Given the description of an element on the screen output the (x, y) to click on. 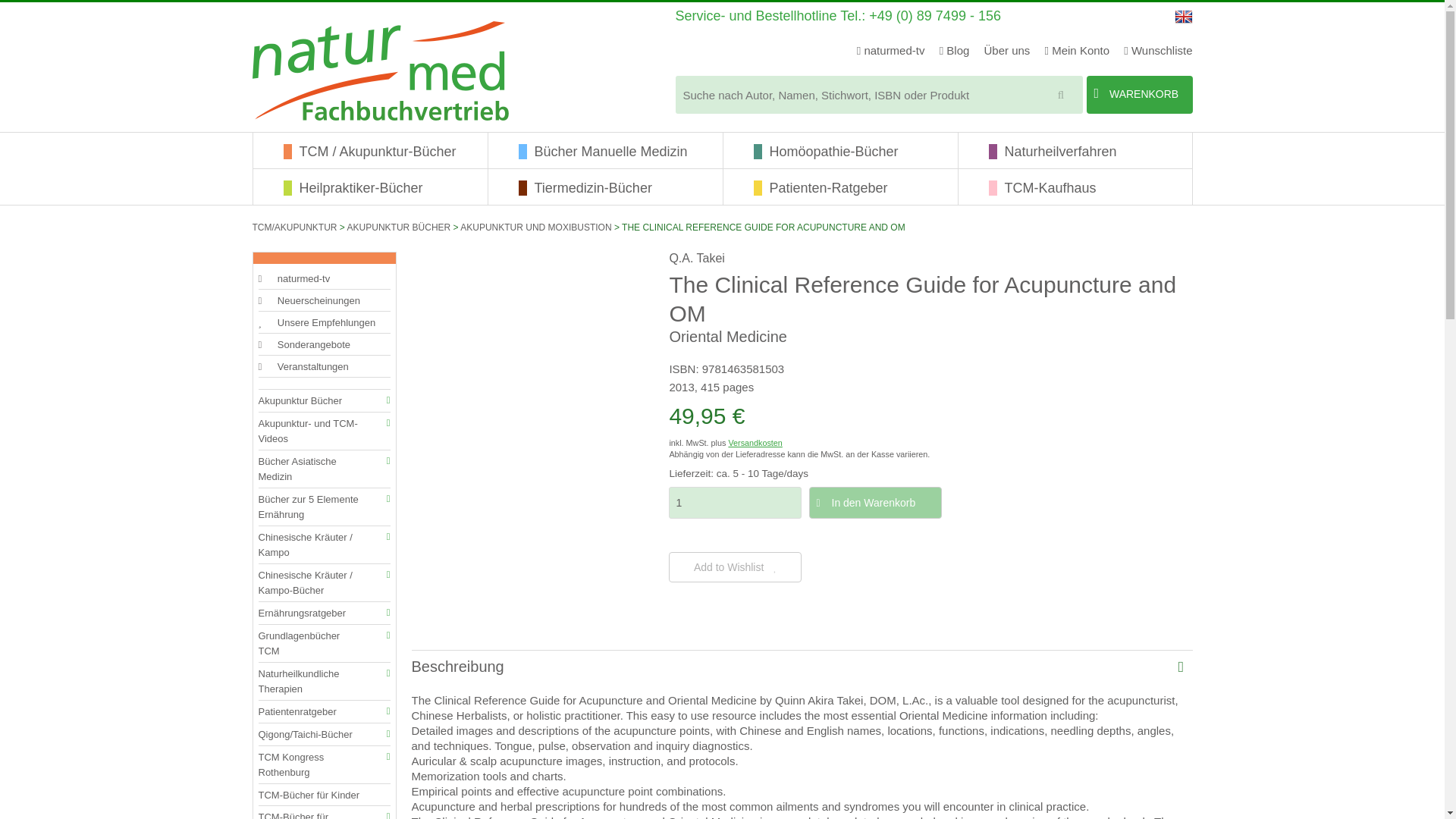
naturmed - Fachbuchvertrieb (379, 70)
Mein Konto (1077, 50)
TCM-Kaufhaus (1086, 186)
AKUPUNKTUR UND MOXIBUSTION (535, 226)
Versandkosten (754, 442)
Wunschliste (1158, 50)
In den Warenkorb (875, 502)
Add to Wishlist (735, 567)
naturmed-tv (890, 50)
Q.A. Takei (696, 257)
